Given the description of an element on the screen output the (x, y) to click on. 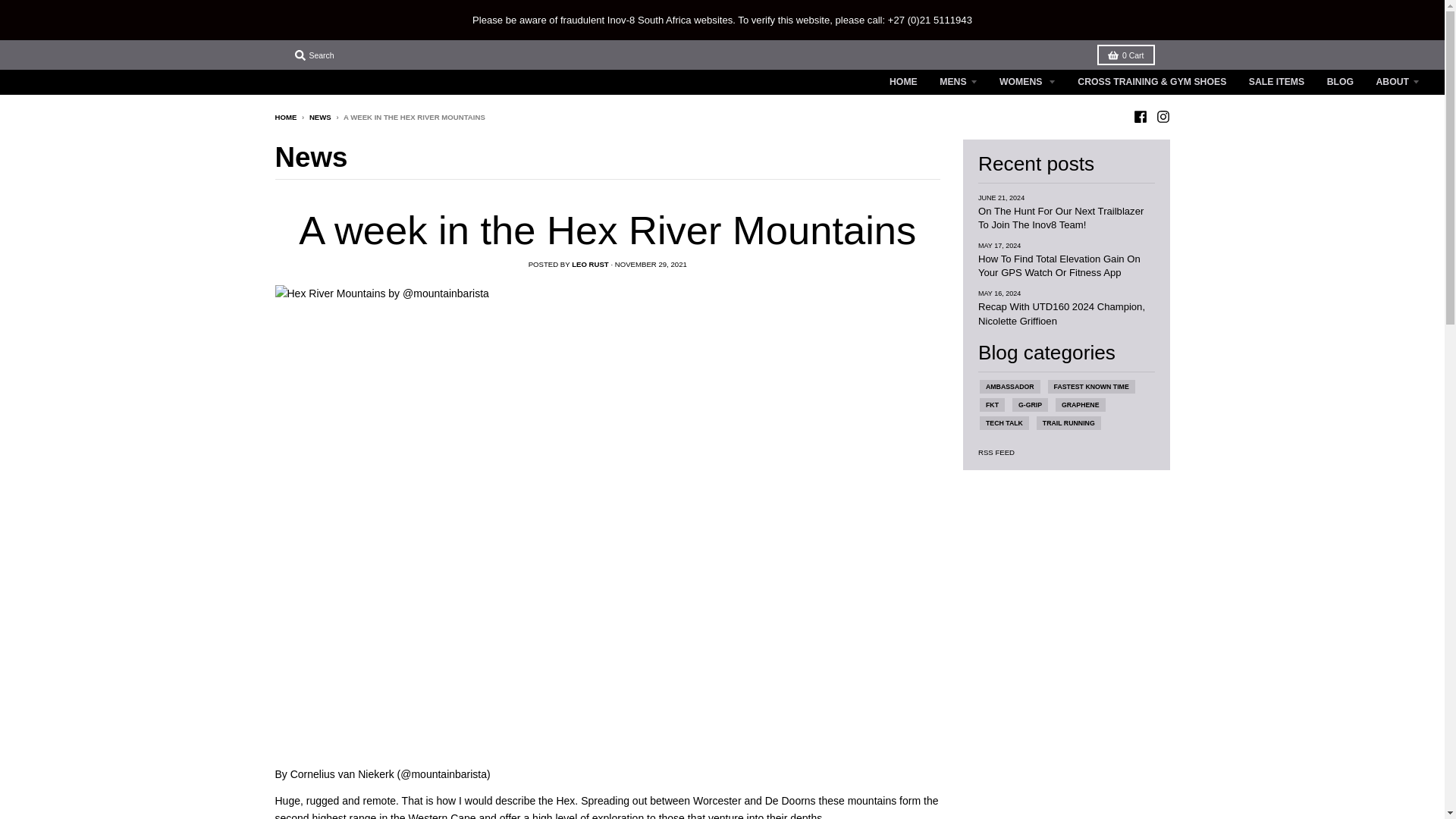
MENS (958, 82)
Show articles tagged fastest known time (1091, 386)
Show articles tagged trail running (1068, 422)
Search (313, 55)
Show articles tagged tech talk (1004, 422)
BLOG (1339, 82)
ABOUT (1397, 82)
Instagram - Inov8Za (1162, 116)
Show articles tagged ambassador (1009, 386)
SALE ITEMS (1276, 82)
